Given the description of an element on the screen output the (x, y) to click on. 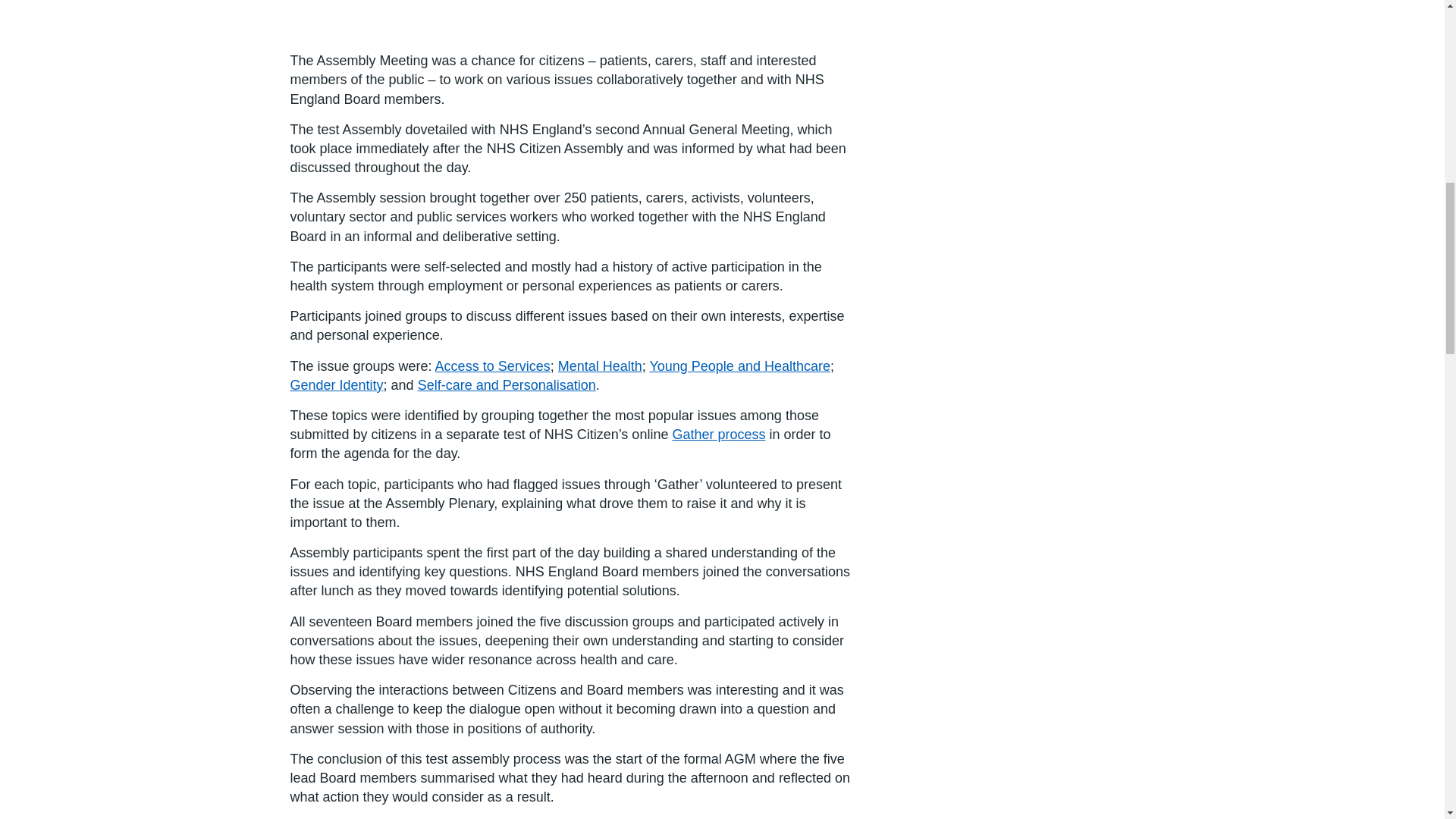
Gender Identity (335, 385)
Download the Gender Identity document (335, 385)
Download the Access to Services document (492, 365)
Gather process (718, 434)
Self-care and Personalisation (506, 385)
Download a copy of the Mental Health document (599, 365)
Young People and Healthcare (739, 365)
Access to Services (492, 365)
View information on the Gather process at NHS Citizen (718, 434)
View a copy of the Young People and Healthcare document (739, 365)
Mental Health (599, 365)
